Given the description of an element on the screen output the (x, y) to click on. 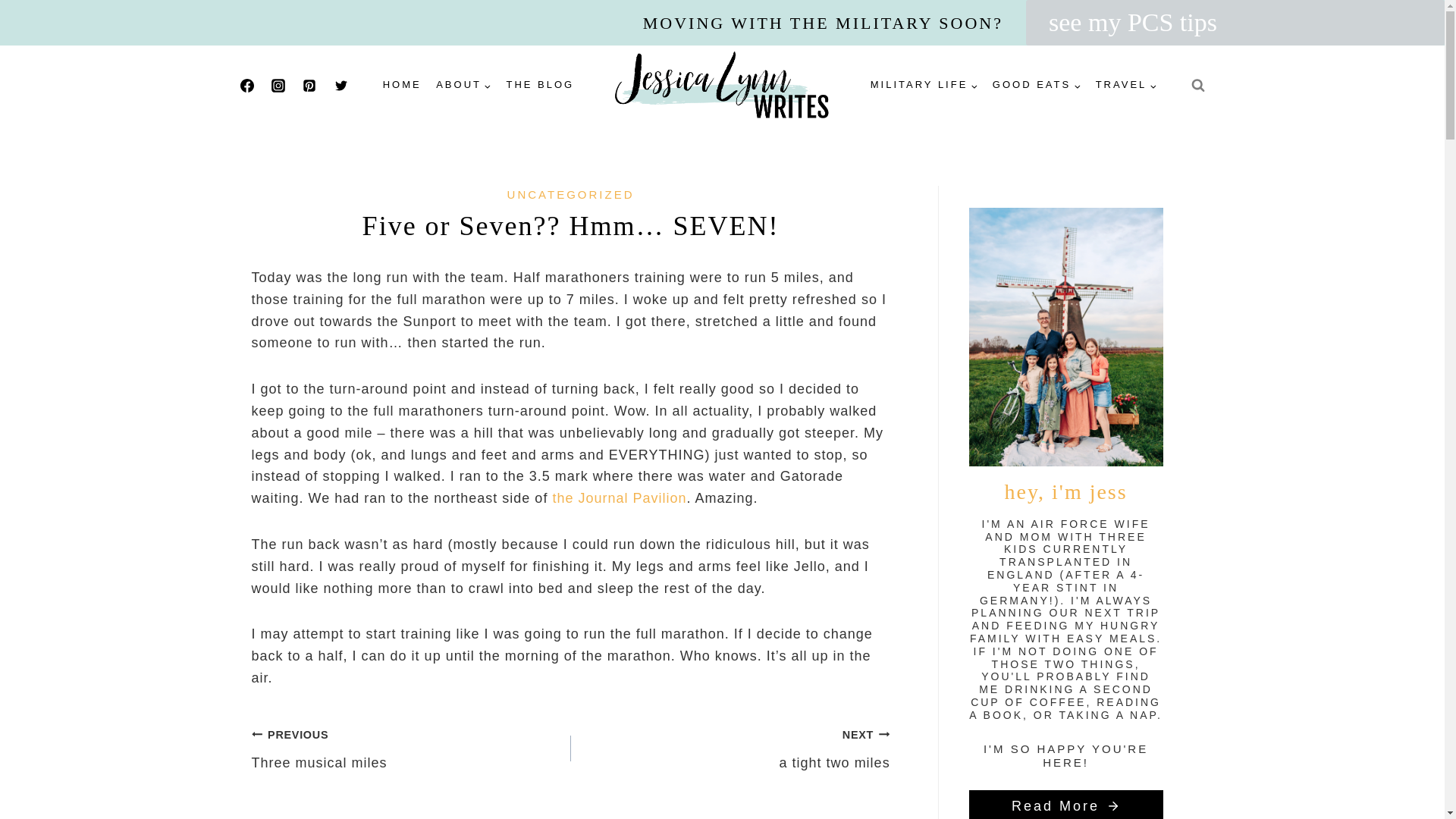
MILITARY LIFE (924, 85)
GOOD EATS (1036, 85)
TRAVEL (1125, 85)
ABOUT (462, 85)
the Journal Pavilion (618, 498)
UNCATEGORIZED (570, 194)
HOME (402, 85)
THE BLOG (539, 85)
